Given the description of an element on the screen output the (x, y) to click on. 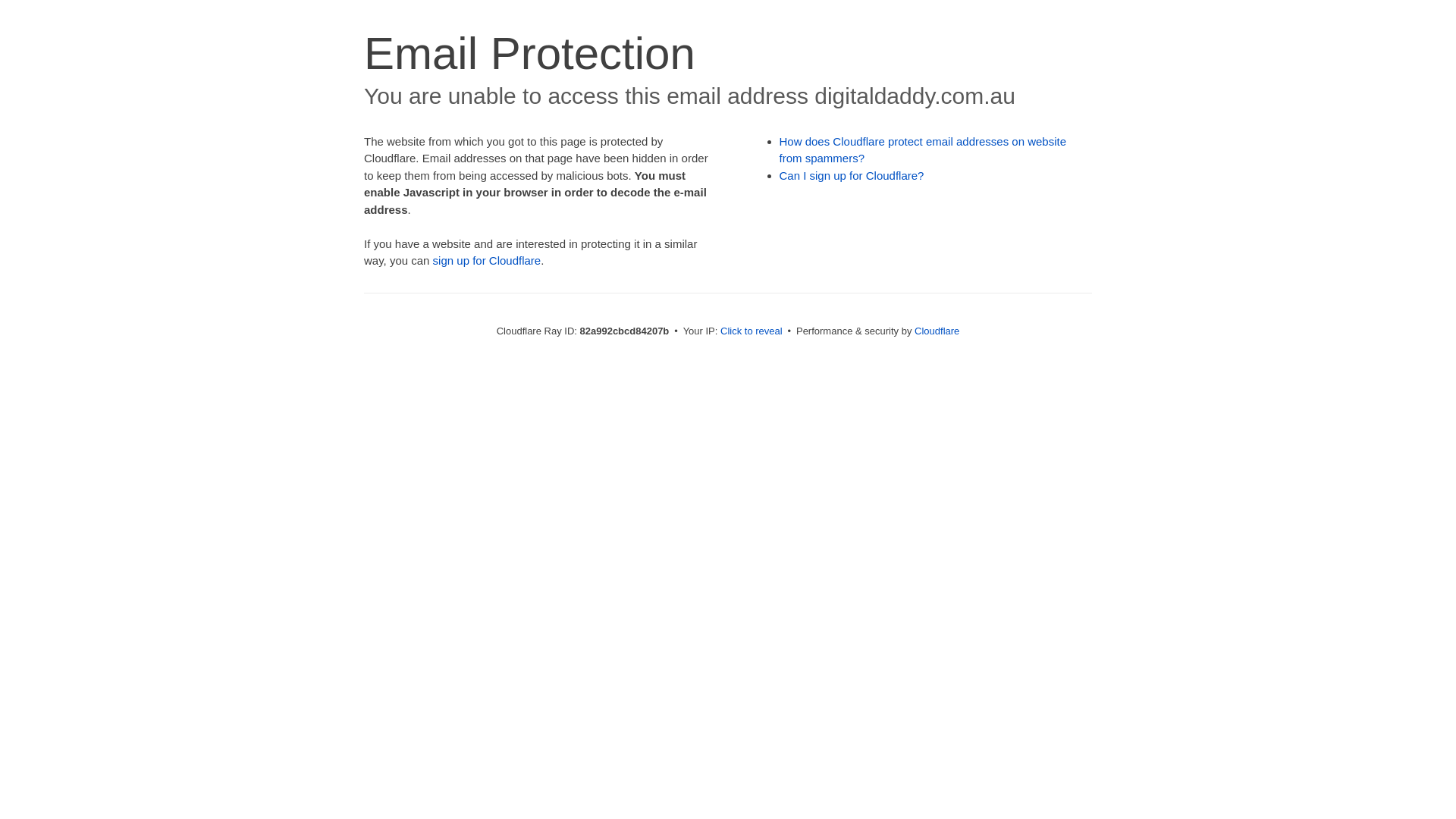
Cloudflare Element type: text (936, 330)
Click to reveal Element type: text (751, 330)
sign up for Cloudflare Element type: text (487, 260)
Can I sign up for Cloudflare? Element type: text (851, 175)
